Given the description of an element on the screen output the (x, y) to click on. 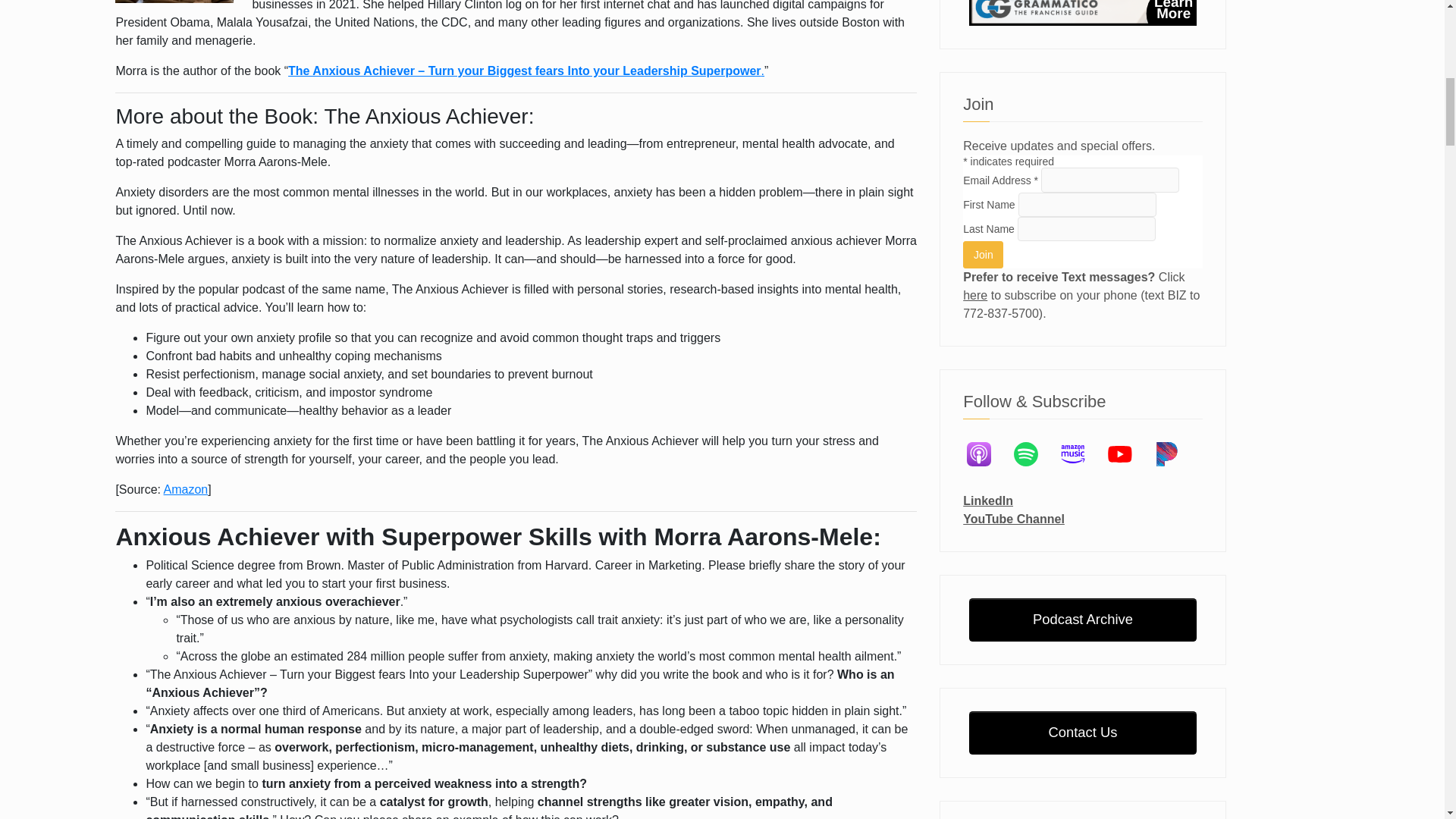
Join (982, 253)
Amazon (185, 489)
